Given the description of an element on the screen output the (x, y) to click on. 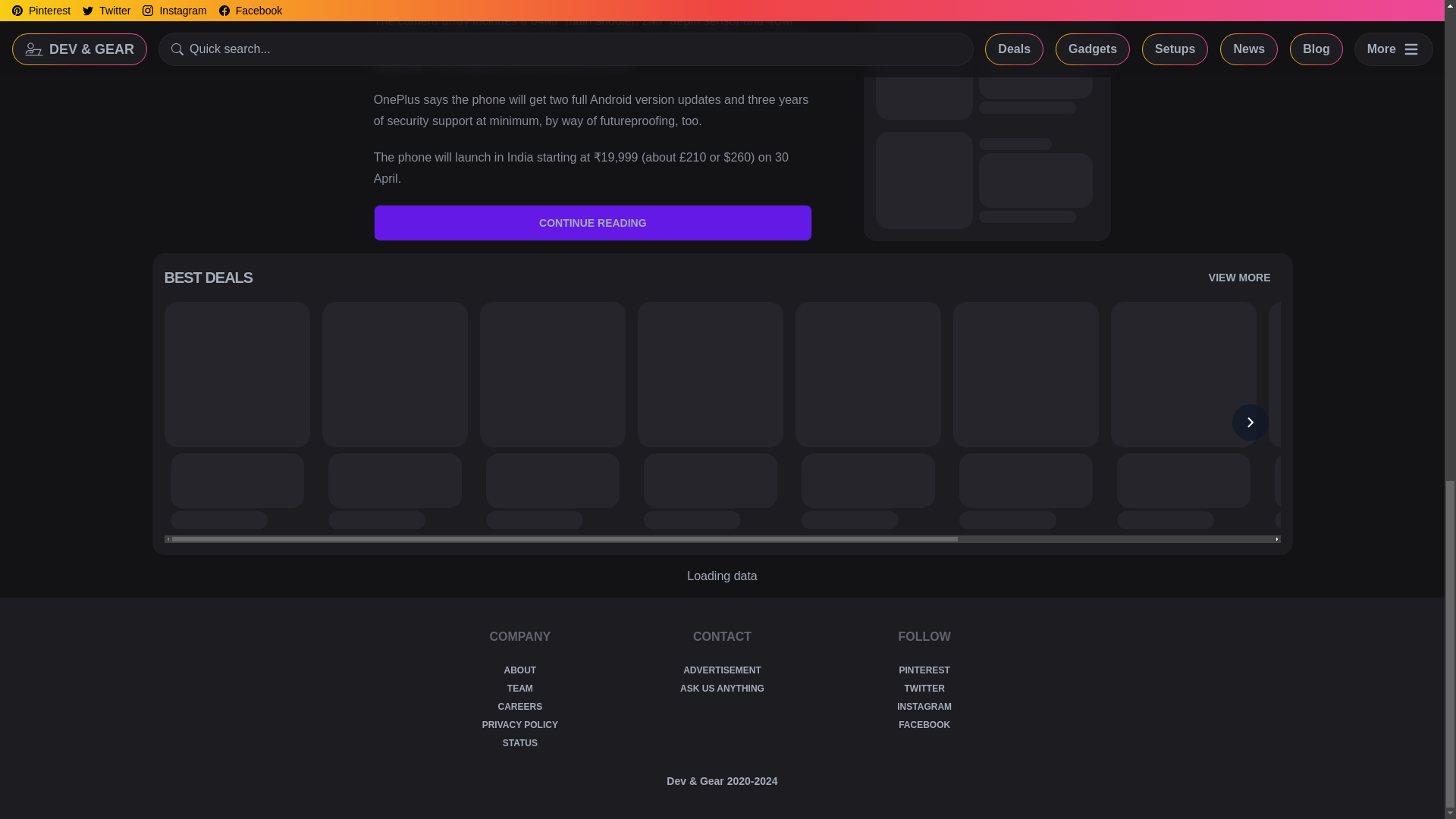
VIEW MORE (1239, 277)
CONTINUE READING (593, 222)
